Given the description of an element on the screen output the (x, y) to click on. 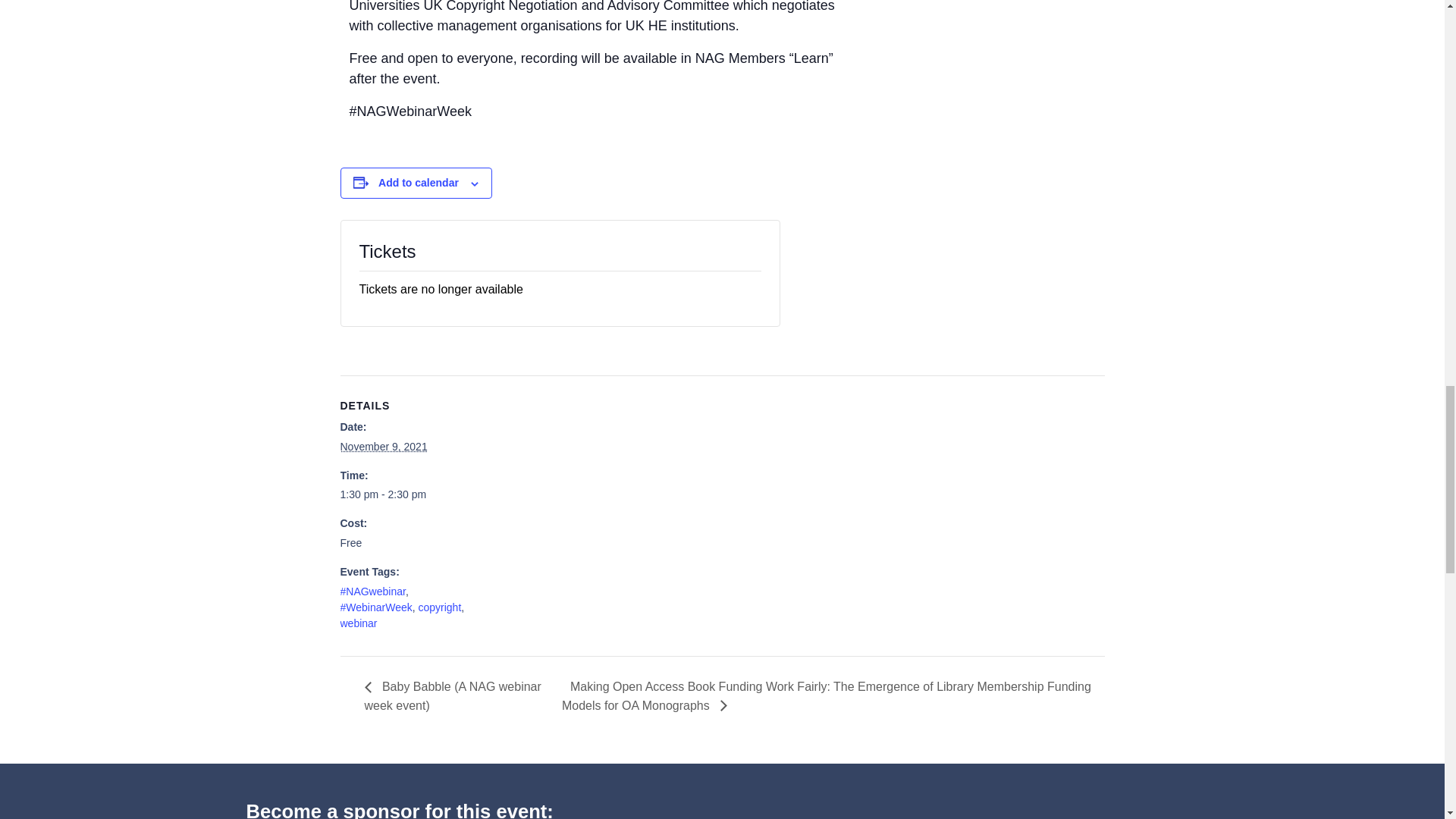
2021-11-09 (403, 494)
2021-11-09 (382, 446)
